Given the description of an element on the screen output the (x, y) to click on. 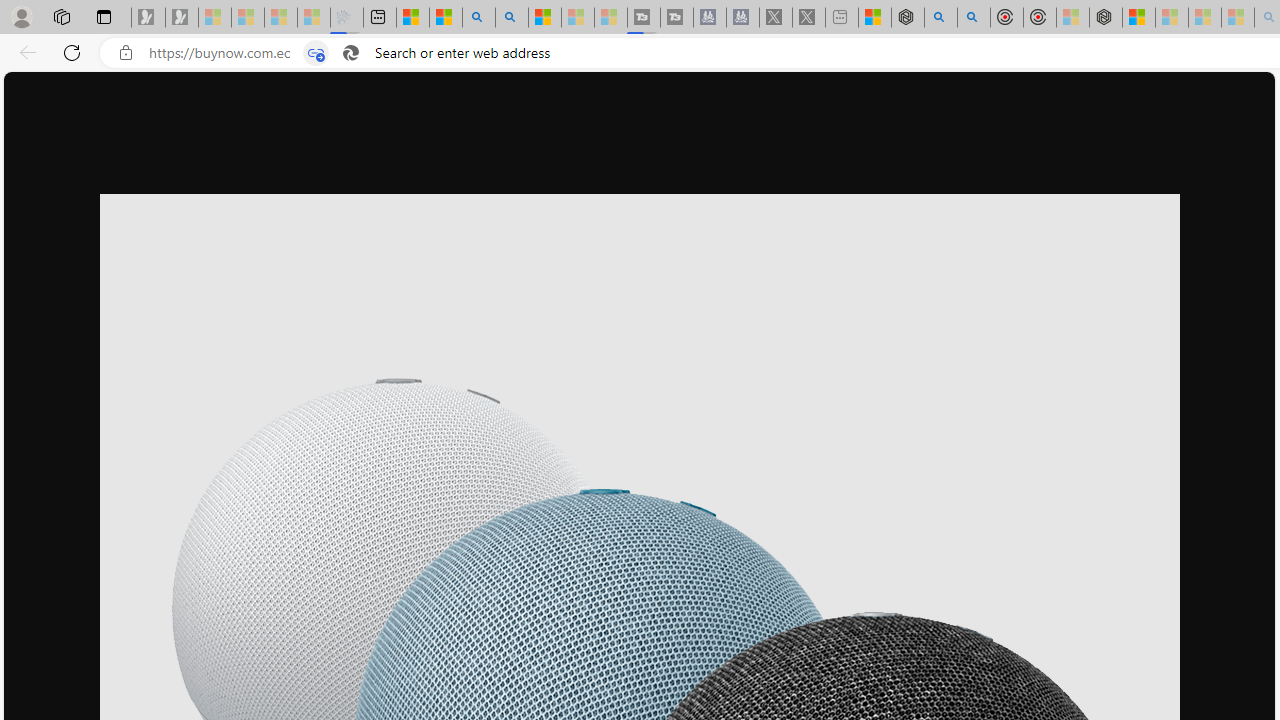
View site information (125, 53)
New tab (379, 17)
Newsletter Sign Up - Sleeping (182, 17)
poe - Search (941, 17)
Nordace - Summer Adventures 2024 (908, 17)
Tab actions menu (104, 16)
